Given the description of an element on the screen output the (x, y) to click on. 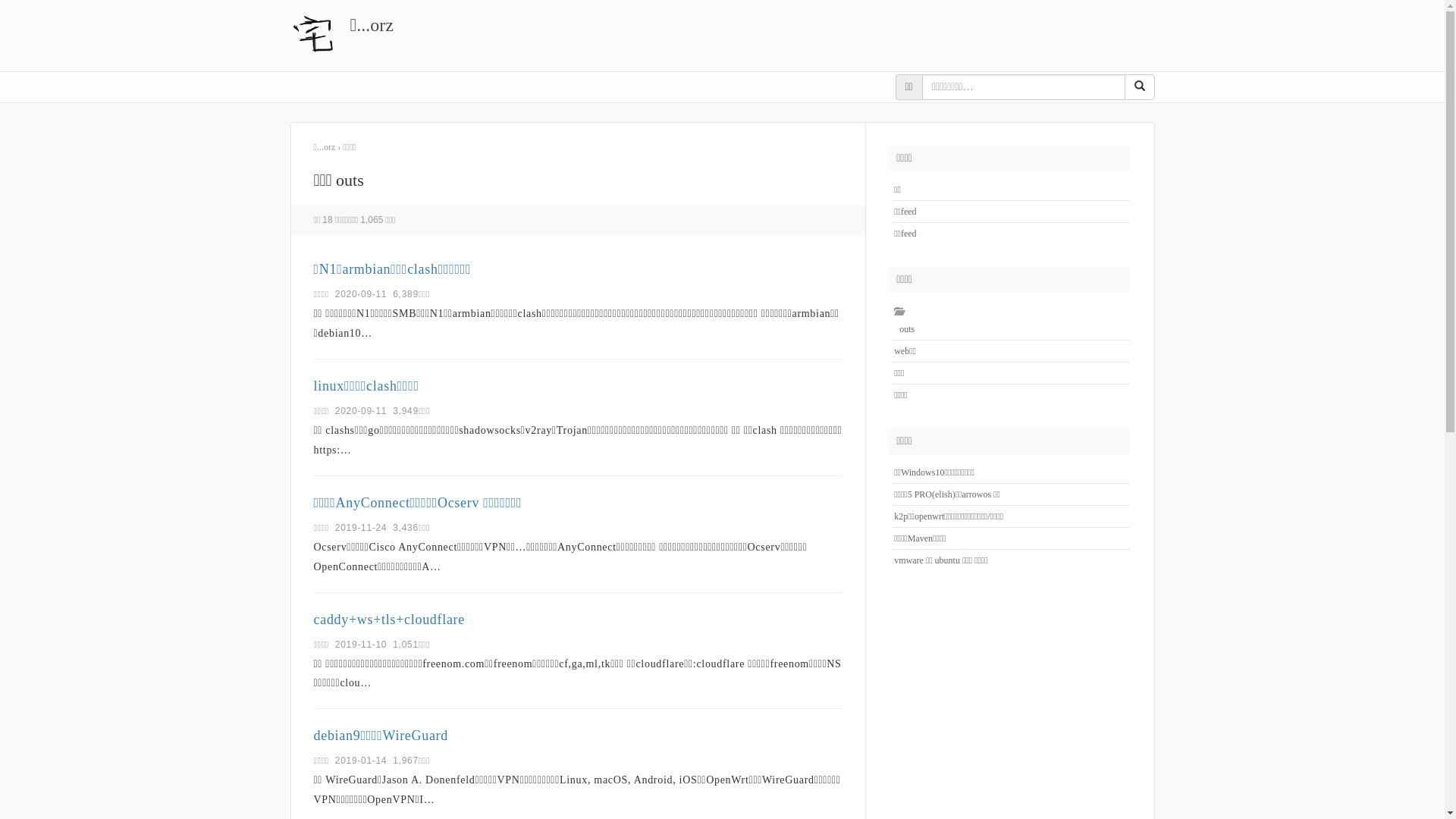
outs Element type: text (904, 328)
caddy+ws+tls+cloudflare Element type: text (389, 619)
